Given the description of an element on the screen output the (x, y) to click on. 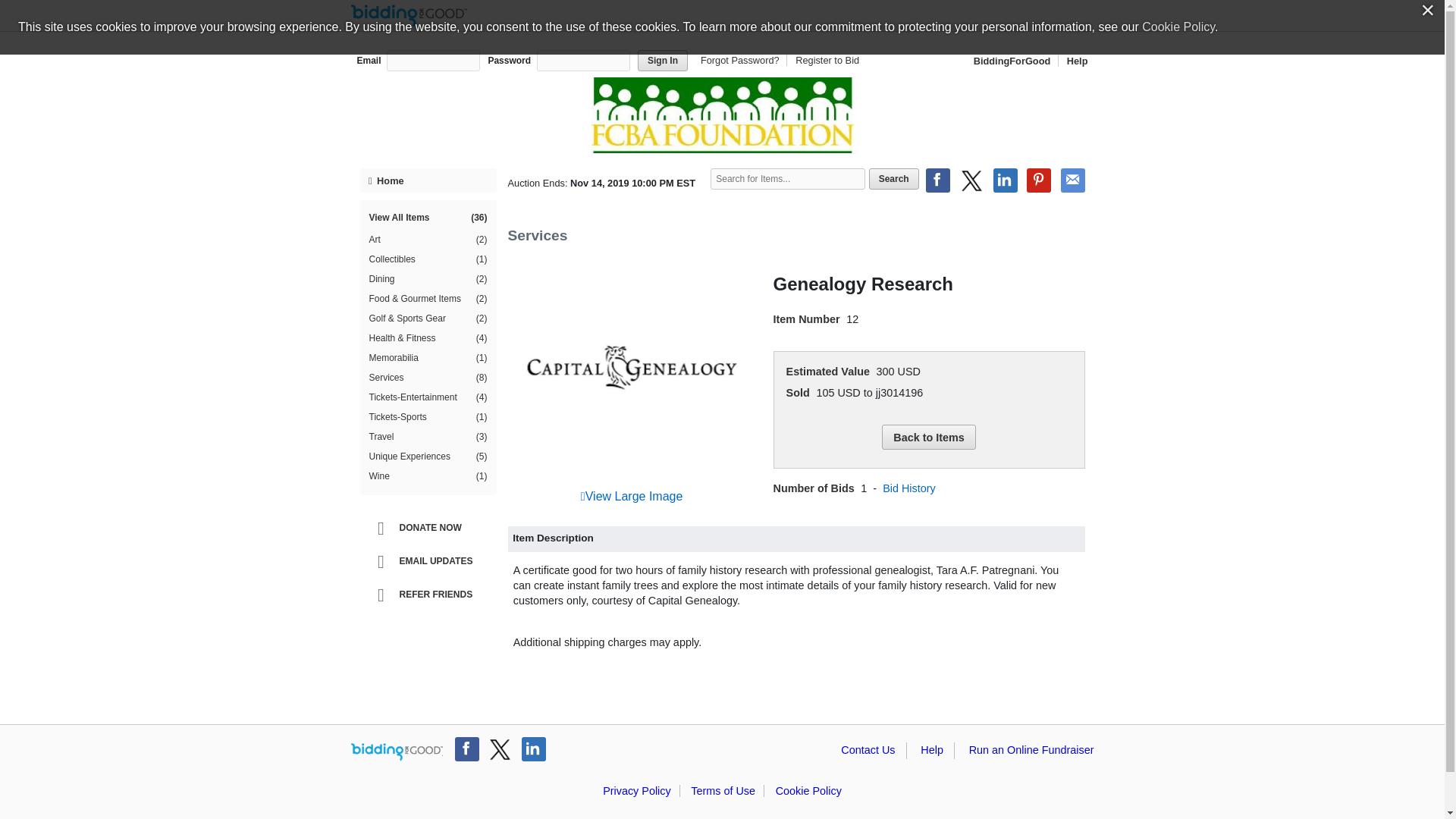
REFER FRIENDS (431, 595)
LinkedIn (1004, 180)
Pinterest (1038, 180)
EMAIL UPDATES (431, 561)
DONATE NOW (431, 528)
Follow on Linked In (533, 749)
Forgot Password? (741, 60)
Facebook (938, 180)
Twitter (971, 180)
Follow on Twitter (499, 749)
Sign In (662, 60)
Back to Items (928, 436)
Help (1074, 60)
Home (427, 180)
Bid History (909, 488)
